Given the description of an element on the screen output the (x, y) to click on. 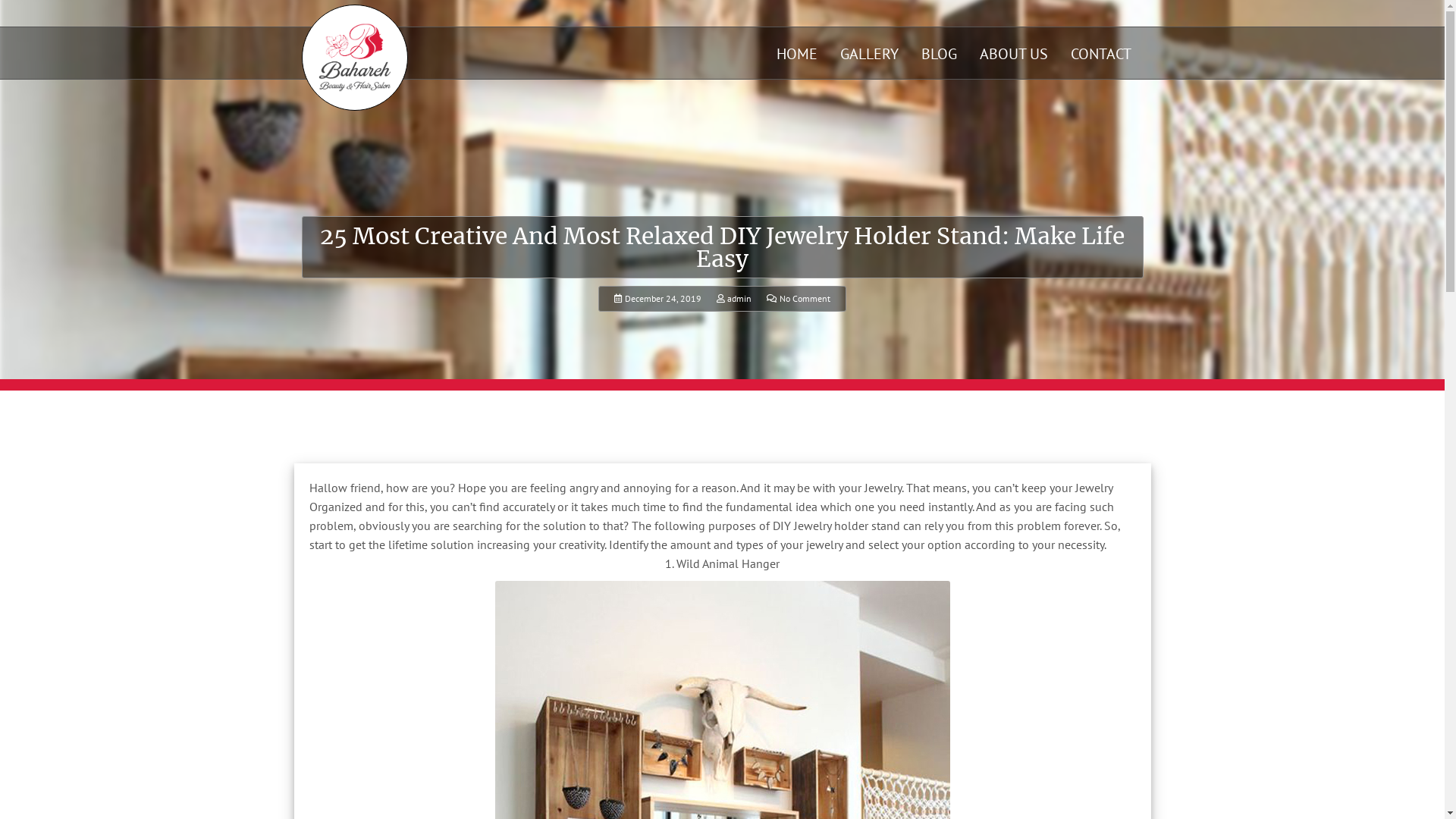
GALLERY Element type: text (869, 53)
ABOUT US Element type: text (1013, 53)
BLOG Element type: text (938, 53)
HOME Element type: text (796, 53)
CONTACT Element type: text (1100, 53)
